Given the description of an element on the screen output the (x, y) to click on. 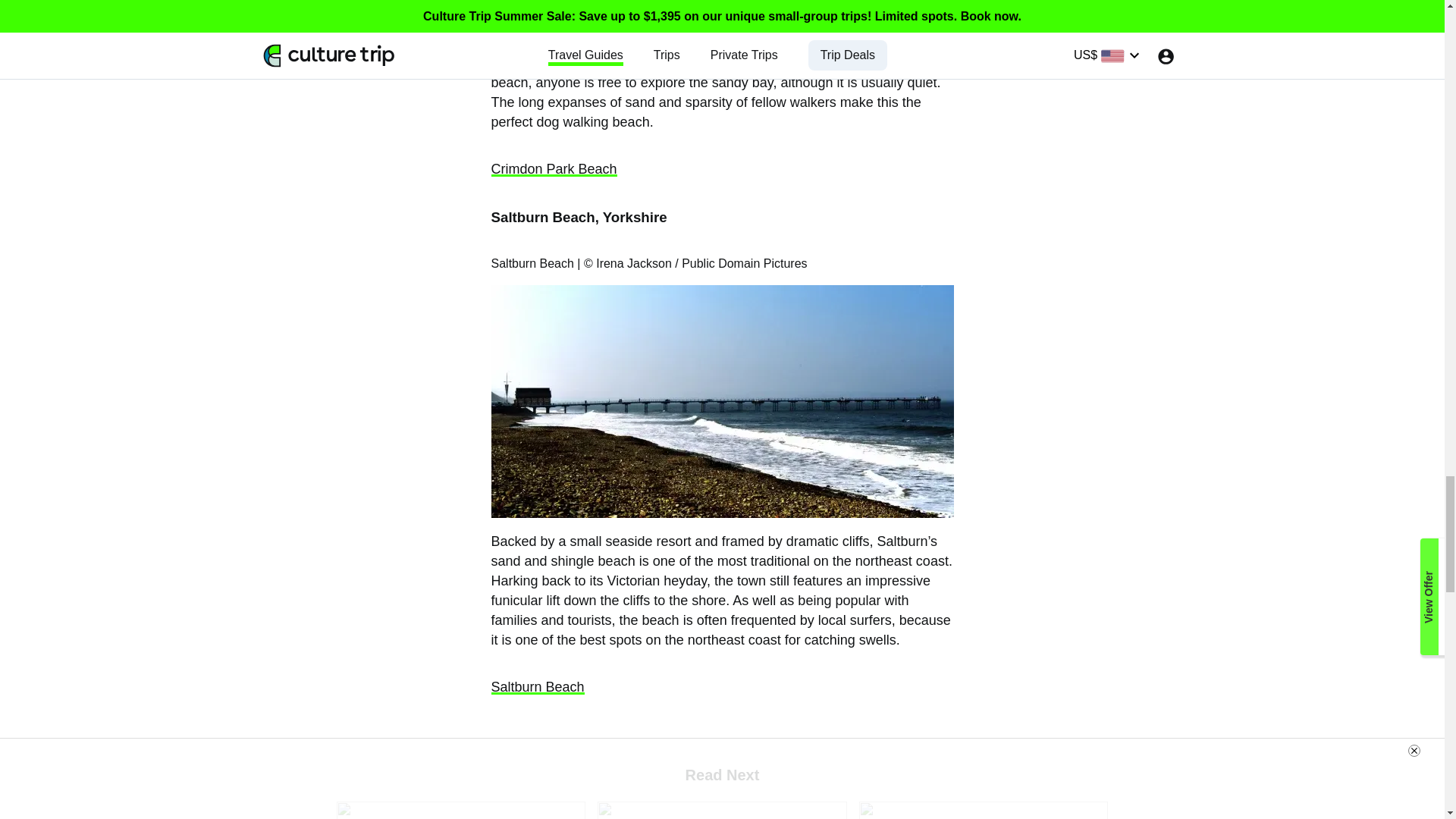
Saltburn Beach (538, 686)
Crimdon Park Beach (554, 168)
